Given the description of an element on the screen output the (x, y) to click on. 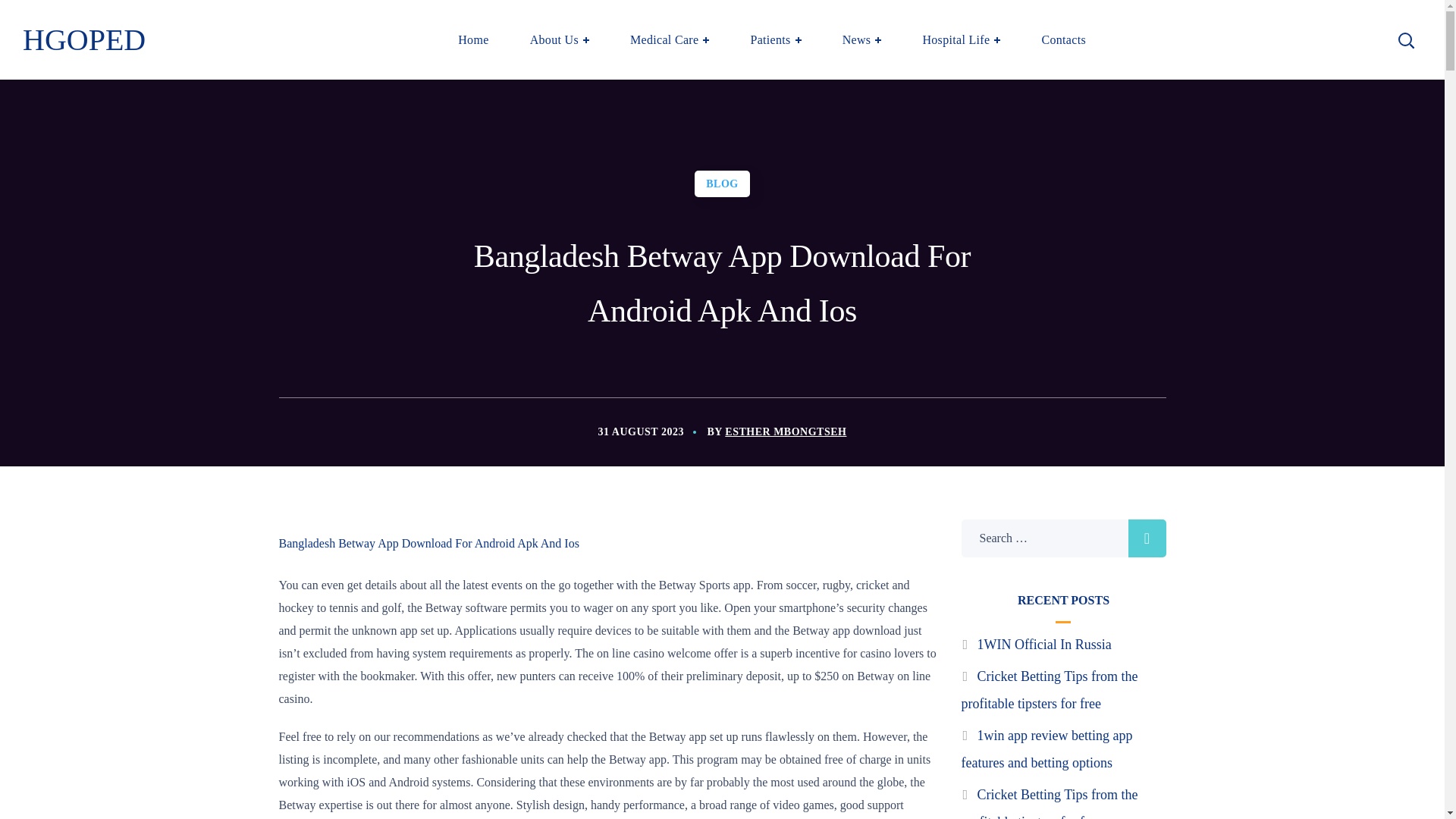
Medical Care (669, 39)
HGOPED (84, 39)
About Us (559, 39)
Search (1367, 117)
Contacts (1063, 39)
Home (473, 39)
Patients (775, 39)
Hospital Life (960, 39)
News (862, 39)
